Given the description of an element on the screen output the (x, y) to click on. 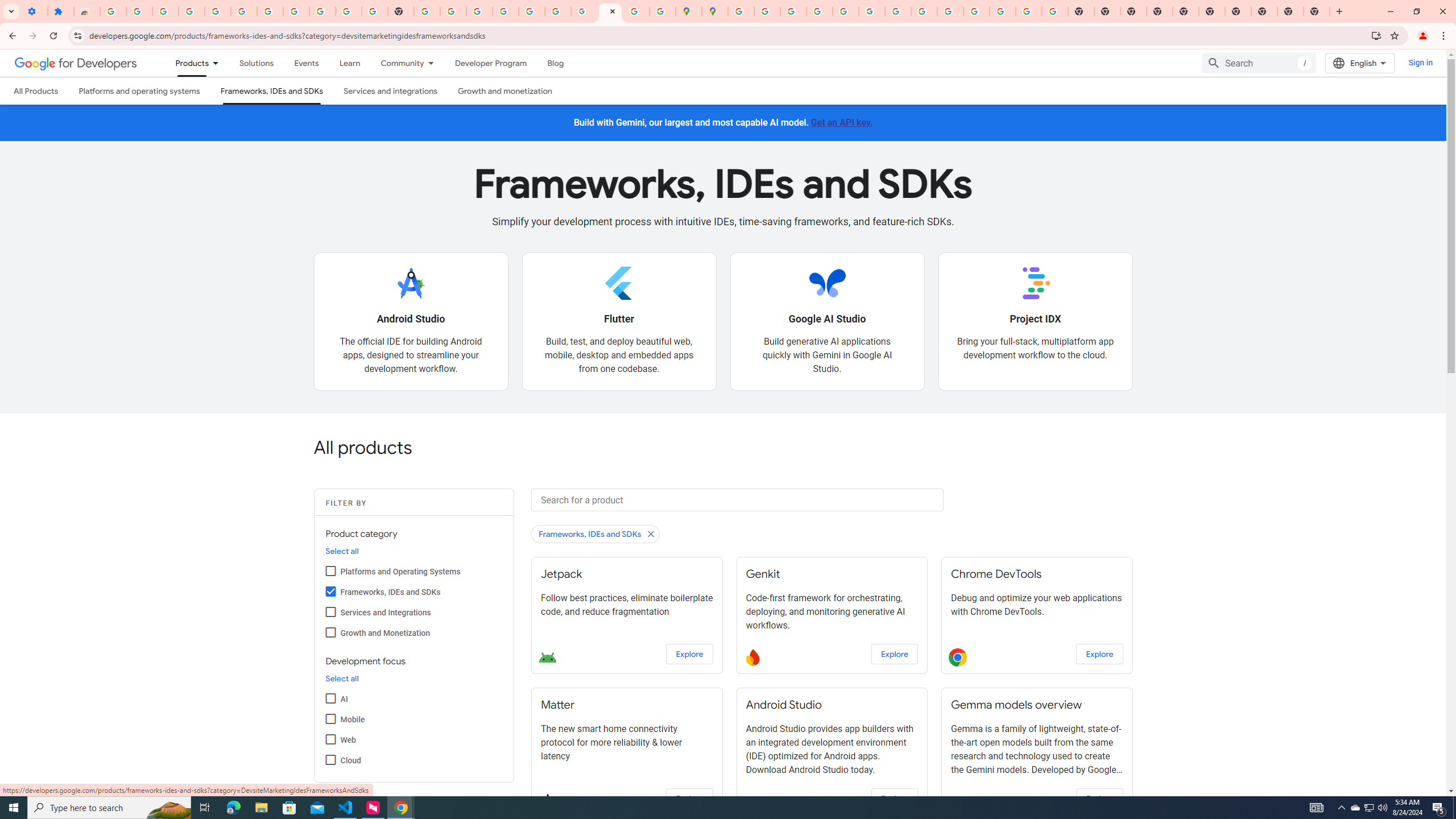
Dropdown menu for Community (433, 62)
Privacy Help Center - Policies Help (818, 11)
